Given the description of an element on the screen output the (x, y) to click on. 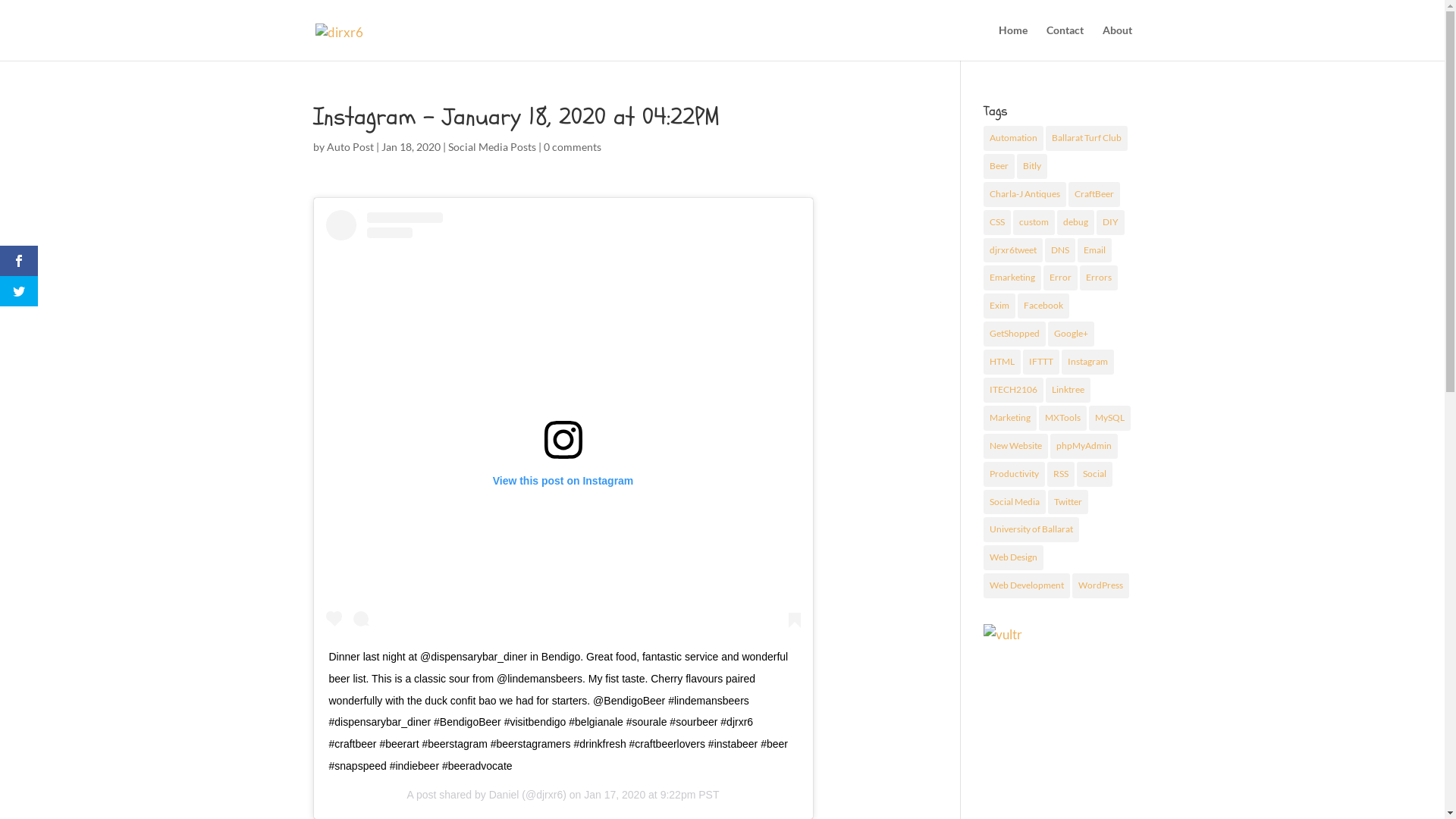
University of Ballarat Element type: text (1031, 529)
Error Element type: text (1060, 277)
Linktree Element type: text (1067, 389)
IFTTT Element type: text (1040, 361)
Web Development Element type: text (1026, 585)
About Element type: text (1117, 42)
DIY Element type: text (1110, 222)
CSS Element type: text (996, 222)
Twitter Element type: text (1068, 501)
Errors Element type: text (1098, 277)
Facebook Element type: text (1043, 305)
debug Element type: text (1075, 222)
Email Element type: text (1094, 250)
Contact Element type: text (1064, 42)
MXTools Element type: text (1062, 417)
Marketing Element type: text (1009, 417)
Social Element type: text (1094, 473)
MySQL Element type: text (1109, 417)
Emarketing Element type: text (1012, 277)
Home Element type: text (1011, 42)
View this post on Instagram Element type: text (563, 422)
Social Media Element type: text (1014, 501)
Bitly Element type: text (1031, 165)
Social Media Posts Element type: text (491, 146)
Auto Post Element type: text (349, 146)
New Website Element type: text (1015, 445)
phpMyAdmin Element type: text (1083, 445)
0 comments Element type: text (571, 146)
WordPress Element type: text (1100, 585)
DNS Element type: text (1059, 250)
Ballarat Turf Club Element type: text (1086, 137)
Google+ Element type: text (1071, 333)
Web Design Element type: text (1013, 557)
custom Element type: text (1033, 222)
Daniel Element type: text (504, 794)
HTML Element type: text (1001, 361)
Automation Element type: text (1013, 137)
Charla-J Antiques Element type: text (1024, 194)
Beer Element type: text (998, 165)
CraftBeer Element type: text (1094, 194)
Instagram Element type: text (1087, 361)
RSS Element type: text (1060, 473)
Productivity Element type: text (1013, 473)
Exim Element type: text (999, 305)
GetShopped Element type: text (1014, 333)
djrxr6tweet Element type: text (1012, 250)
ITECH2106 Element type: text (1013, 389)
